Given the description of an element on the screen output the (x, y) to click on. 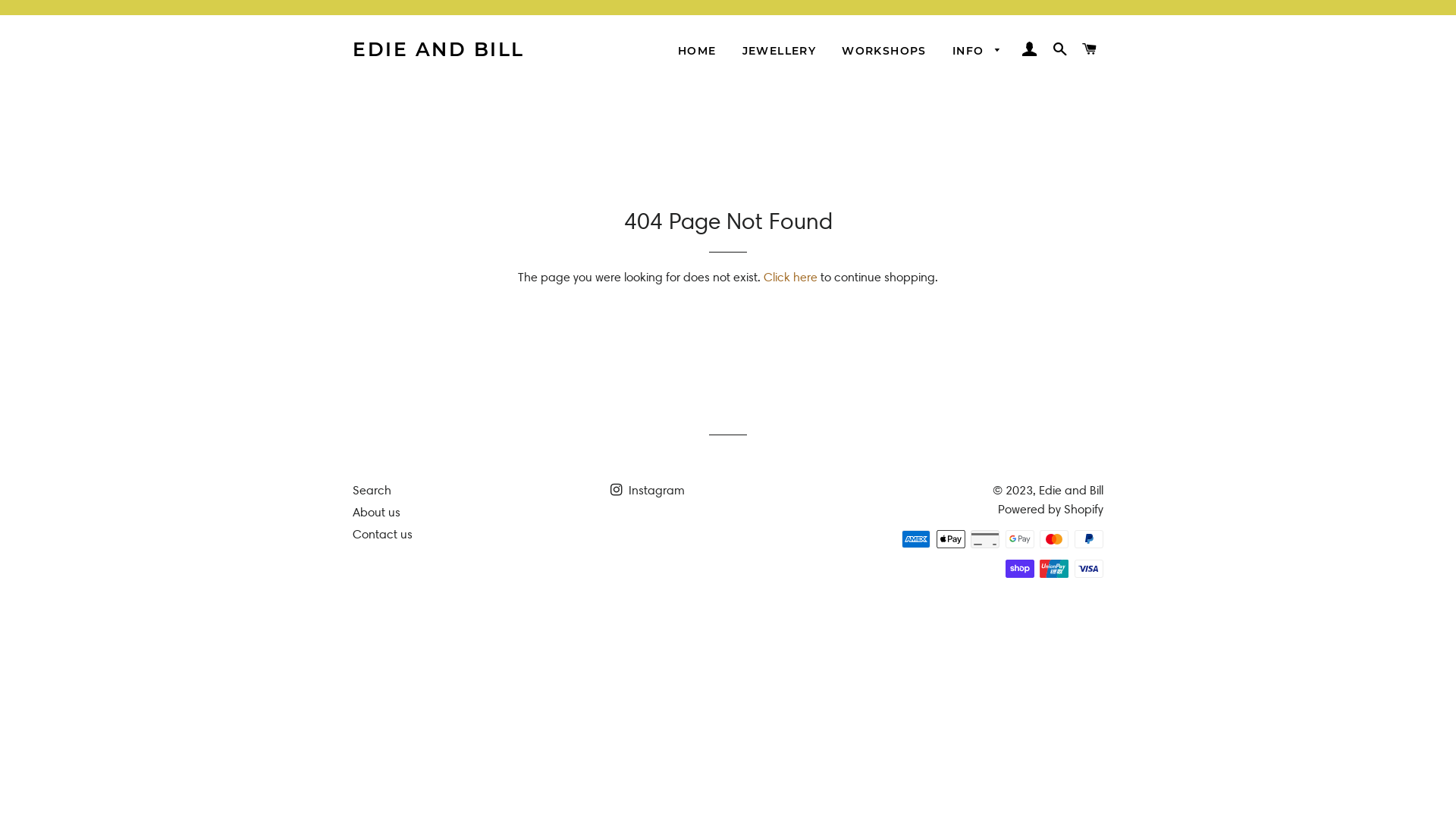
CART Element type: text (1089, 49)
JEWELLERY Element type: text (779, 51)
HOME Element type: text (697, 51)
INFO Element type: text (977, 51)
Search Element type: text (371, 490)
Powered by Shopify Element type: text (1050, 509)
Instagram Element type: text (647, 490)
LOG IN Element type: text (1029, 49)
WORKSHOPS Element type: text (884, 51)
Contact us Element type: text (382, 534)
SEARCH Element type: text (1059, 49)
Click here Element type: text (790, 276)
About us Element type: text (376, 512)
EDIE AND BILL Element type: text (438, 49)
Edie and Bill Element type: text (1070, 490)
